Given the description of an element on the screen output the (x, y) to click on. 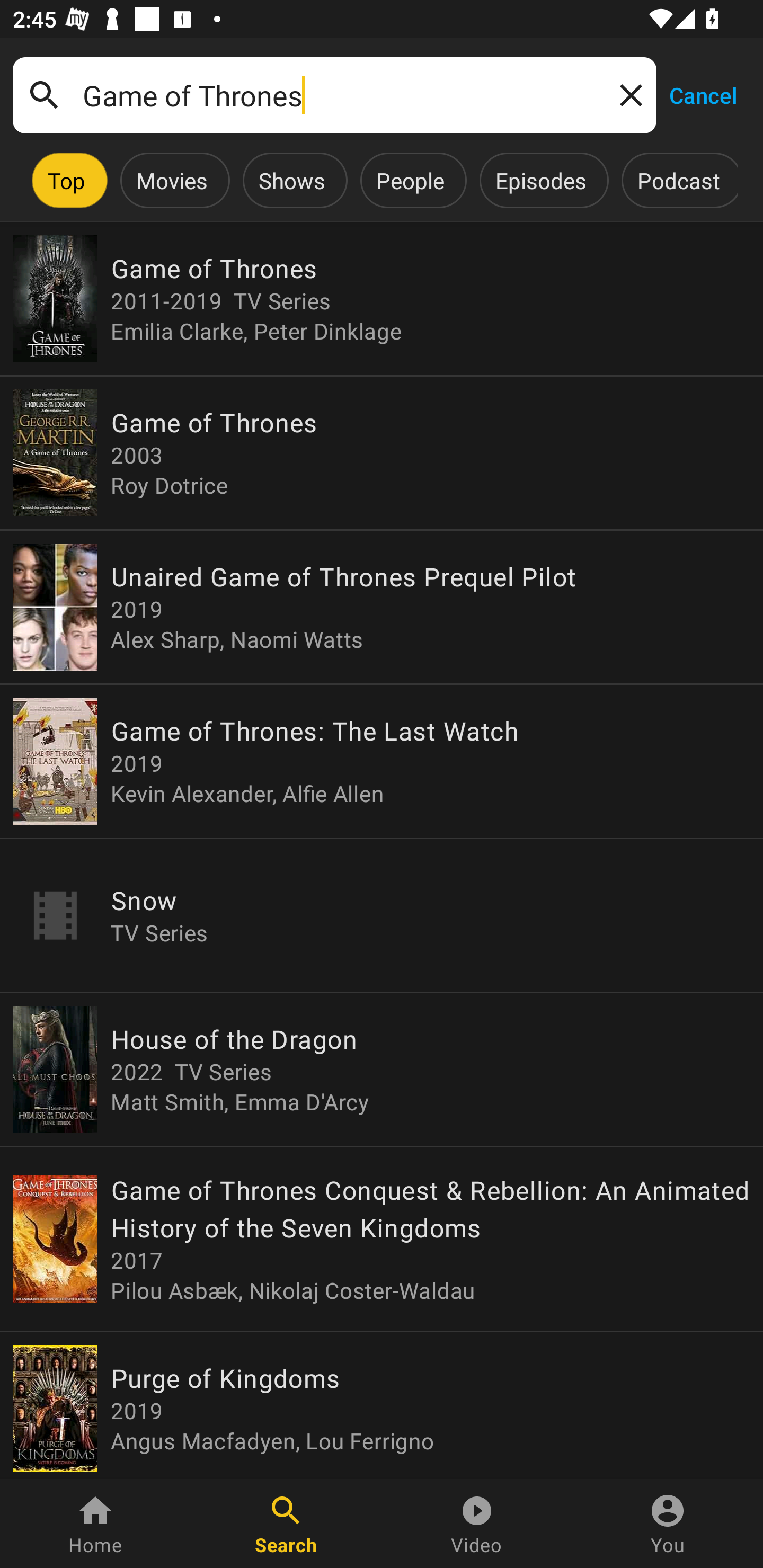
Clear query (627, 94)
Cancel (703, 94)
Game of Thrones (334, 95)
Top (66, 180)
Movies (171, 180)
Shows (291, 180)
People (410, 180)
Episodes (540, 180)
Podcast (678, 180)
Game of Thrones 2003 Roy Dotrice (381, 452)
Snow TV Series (381, 914)
Home (95, 1523)
Video (476, 1523)
You (667, 1523)
